Given the description of an element on the screen output the (x, y) to click on. 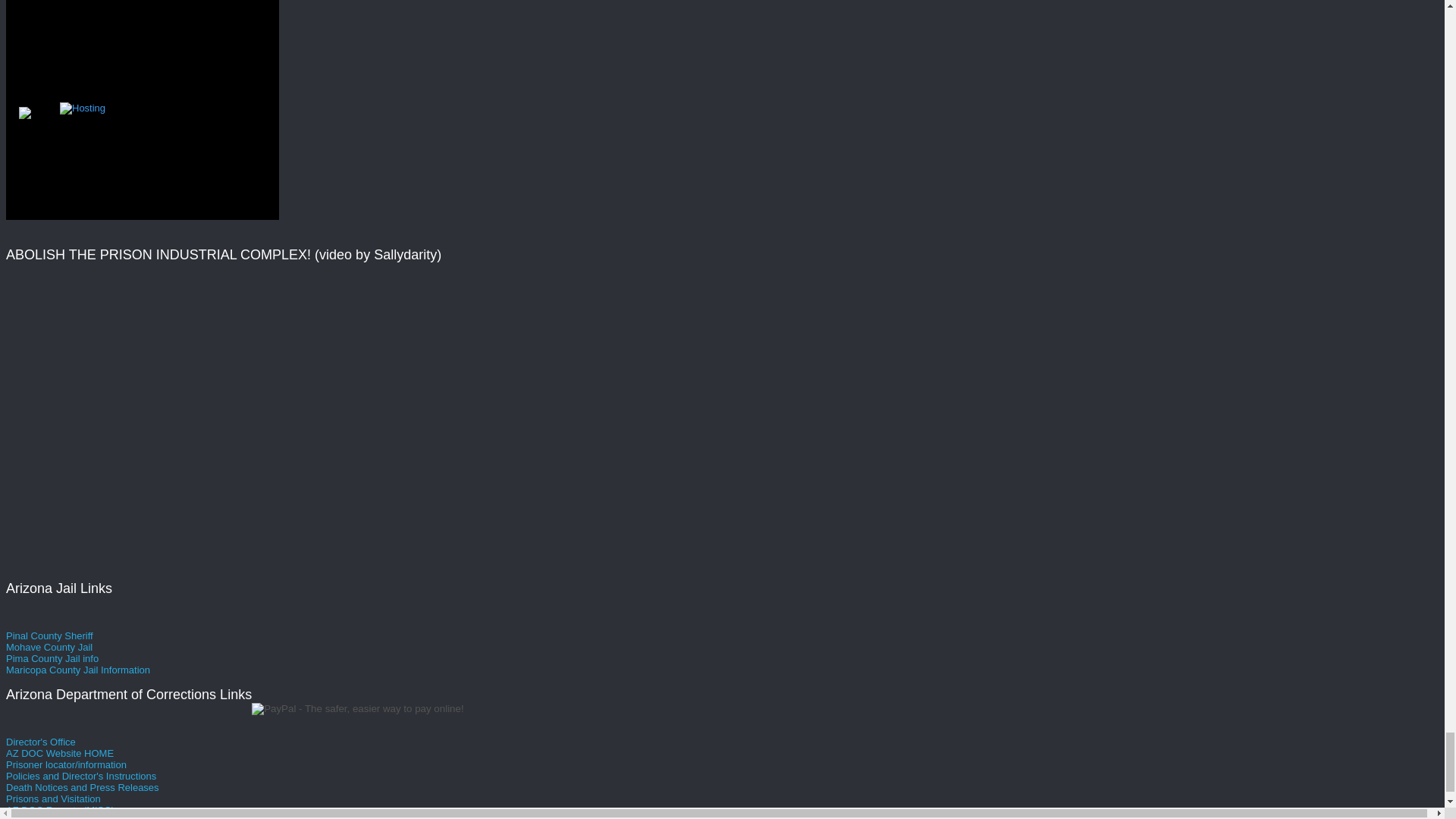
Free Blog Counters, Stats and Widgets (24, 115)
